Given the description of an element on the screen output the (x, y) to click on. 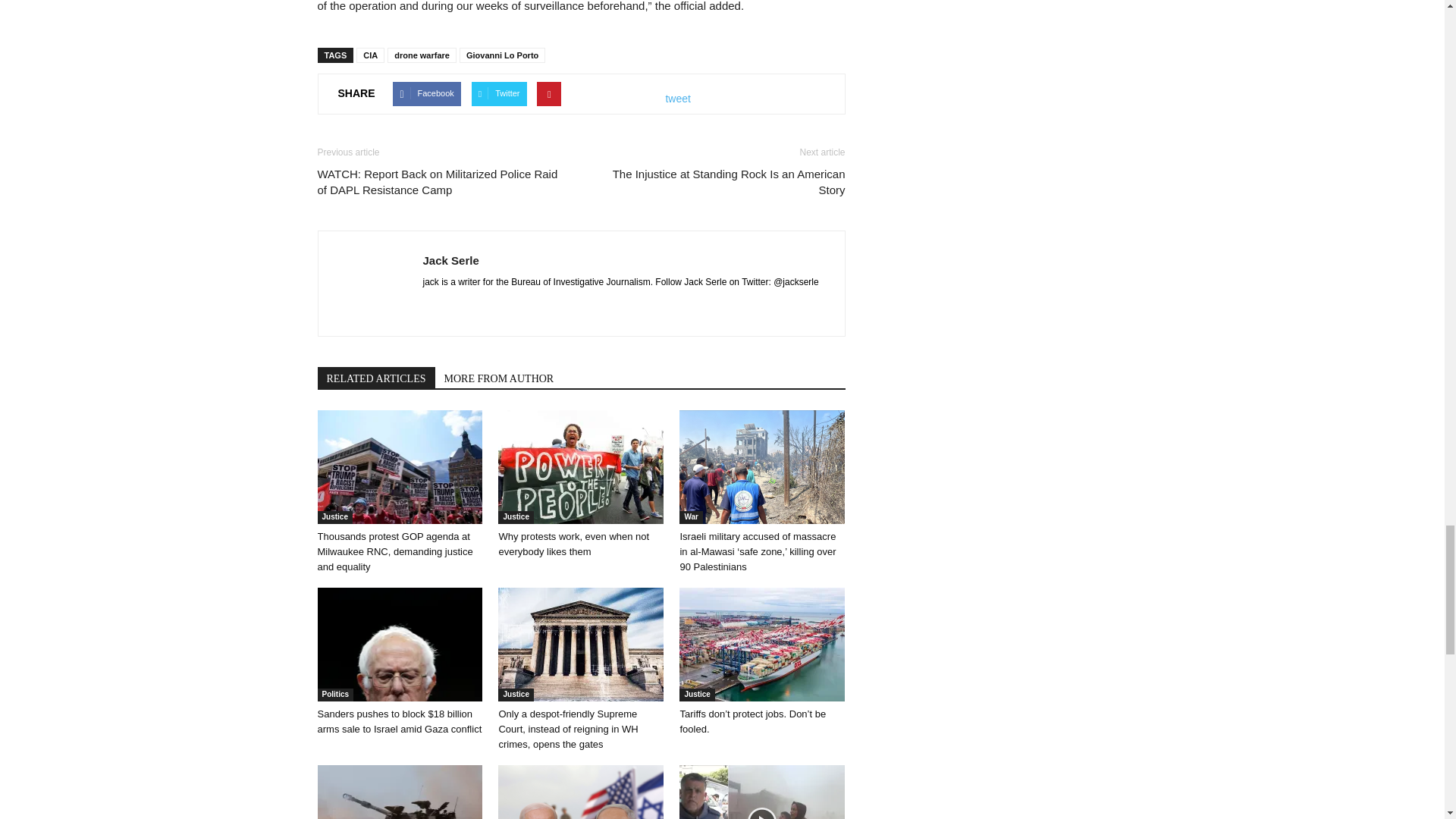
Why protests work, even when not everybody likes them (580, 467)
